Given the description of an element on the screen output the (x, y) to click on. 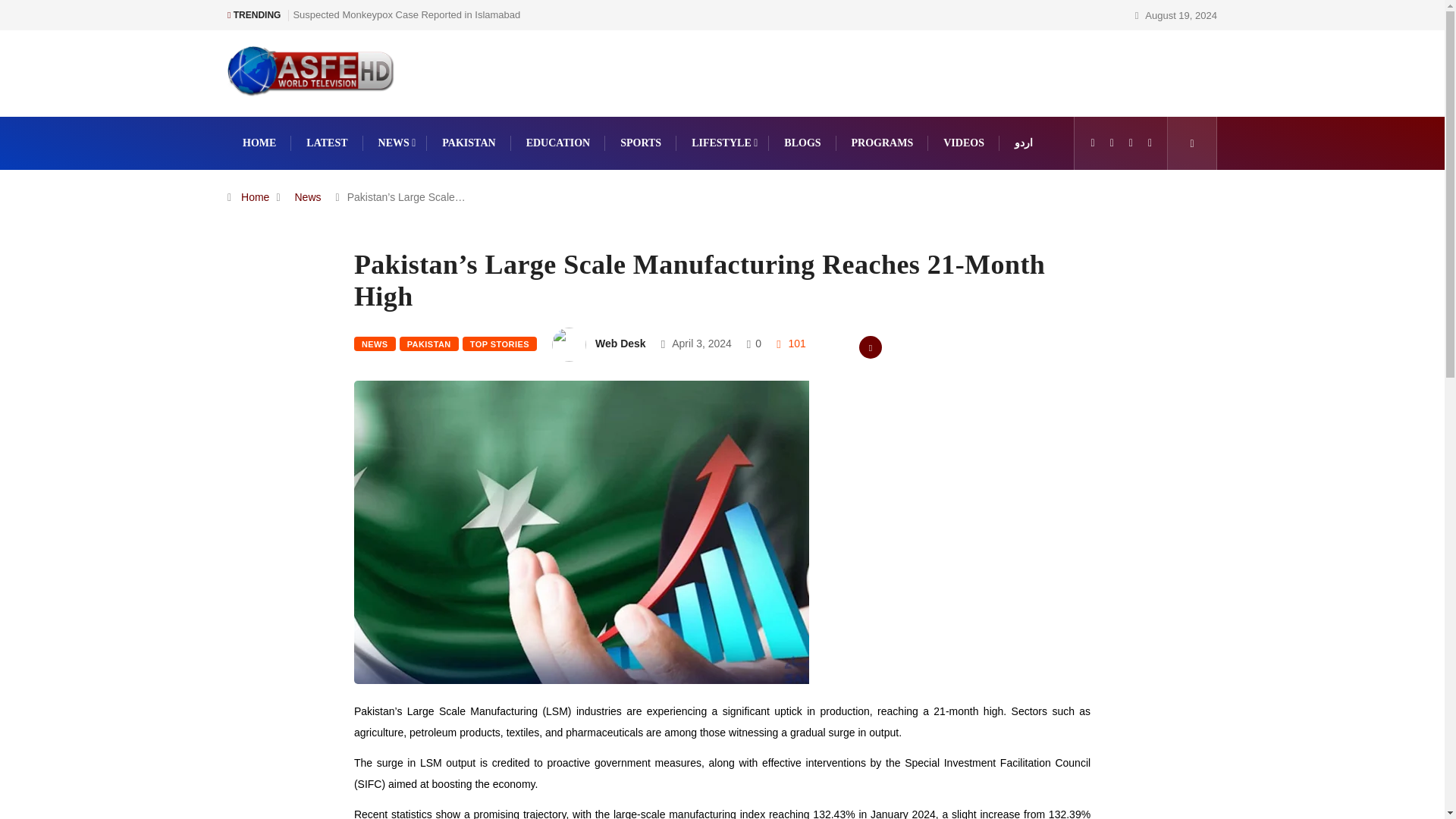
LIFESTYLE (722, 143)
PAKISTAN (468, 143)
PROGRAMS (882, 143)
NEWS (374, 343)
Home (255, 196)
Suspected Monkeypox Case Reported in Islamabad (405, 14)
EDUCATION (558, 143)
News (308, 196)
